Given the description of an element on the screen output the (x, y) to click on. 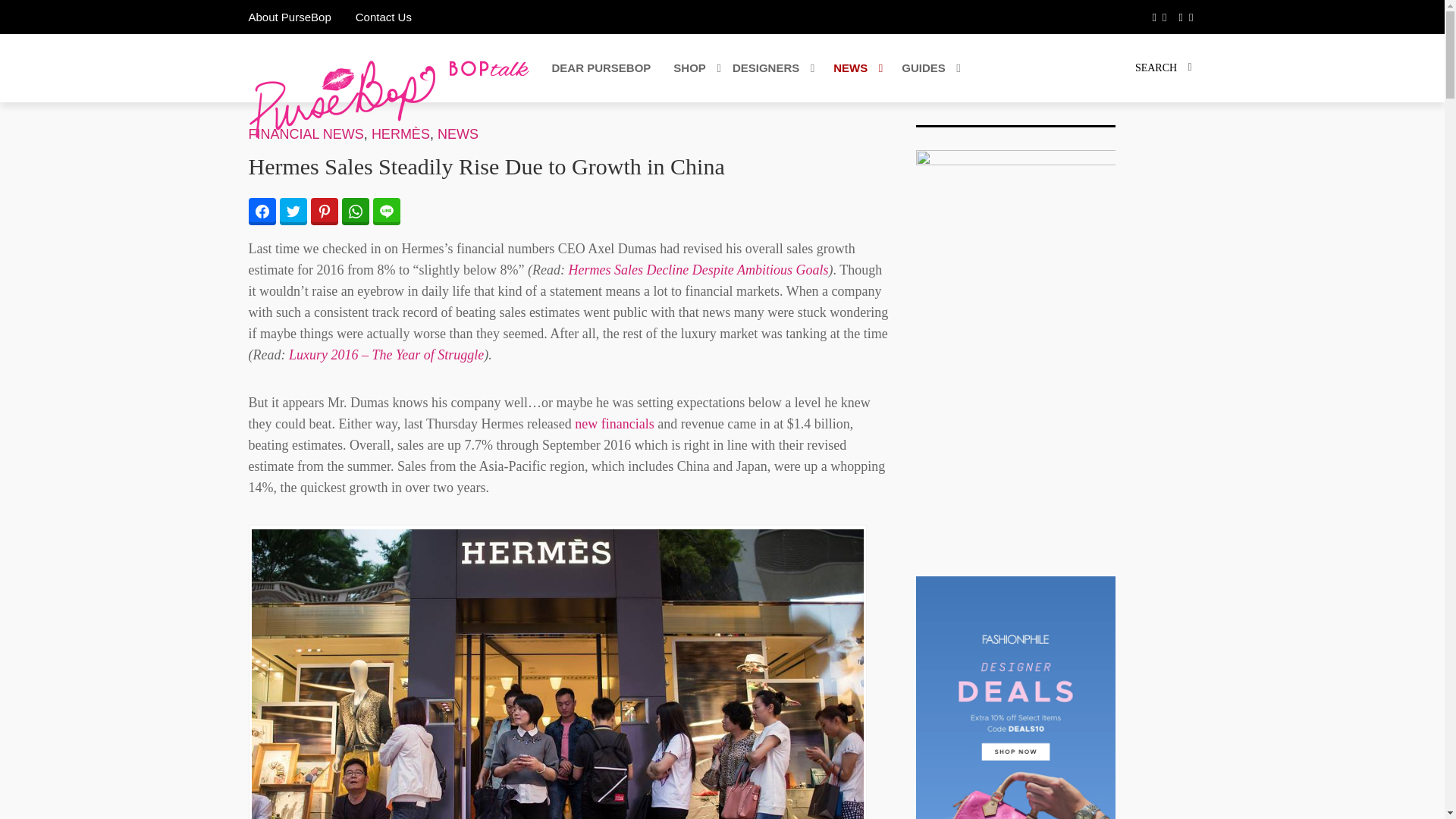
DEAR PURSEBOP (601, 68)
Share on Pinterest (324, 211)
SHOP (702, 68)
Contact Us (695, 68)
About PurseBop (383, 17)
Share on Line (288, 17)
Share on Facebook (386, 211)
DESIGNERS (262, 211)
Share on WhatsApp (775, 68)
